Given the description of an element on the screen output the (x, y) to click on. 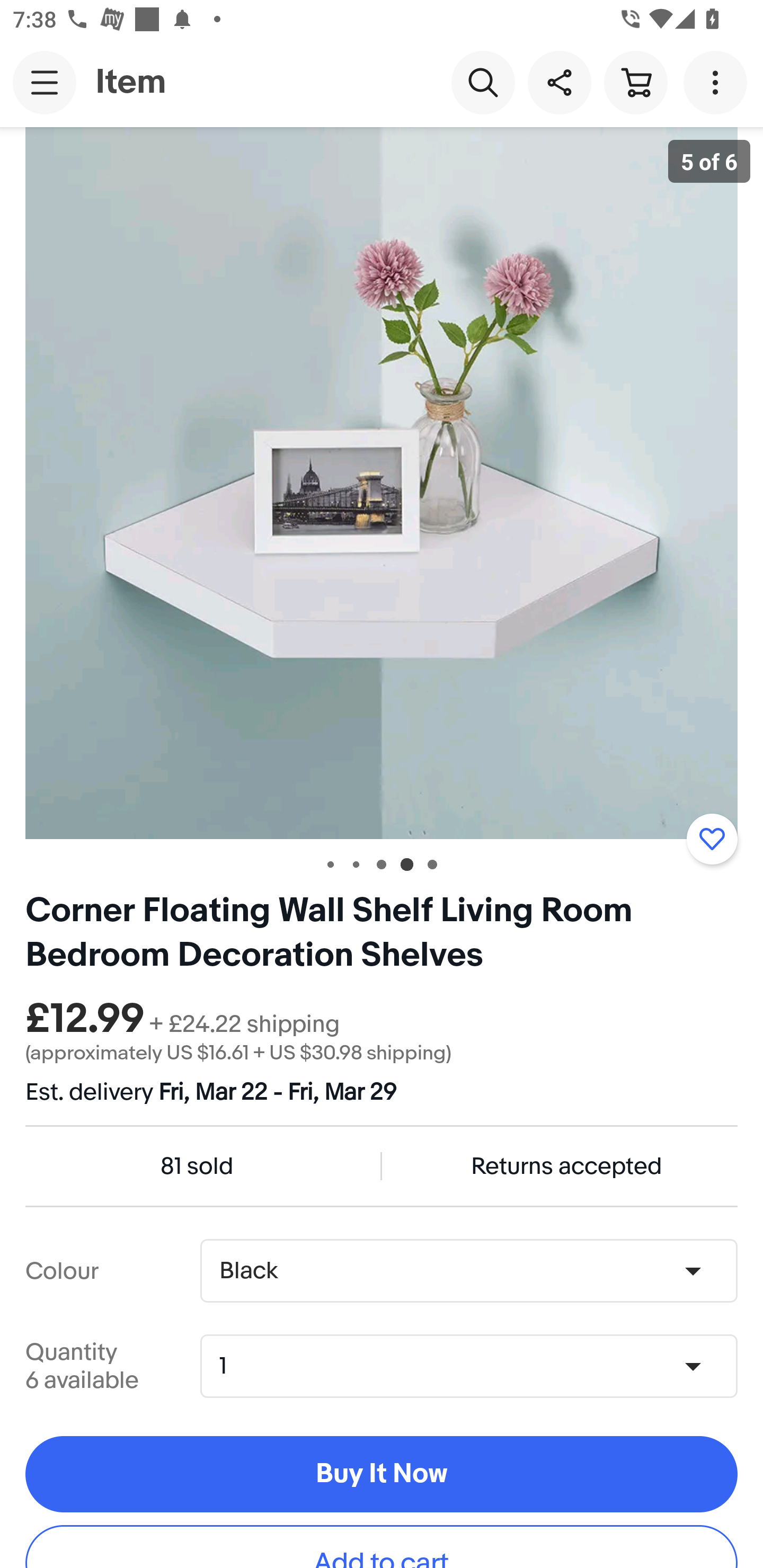
Main navigation, open (44, 82)
Search (482, 81)
Share this item (559, 81)
Cart button shopping cart (635, 81)
More options (718, 81)
Item image 5 of 6 (381, 482)
Add to watchlist (711, 838)
Colour,Black Black (468, 1270)
Quantity,1,6 available 1 (474, 1365)
Buy It Now (381, 1474)
